Given the description of an element on the screen output the (x, y) to click on. 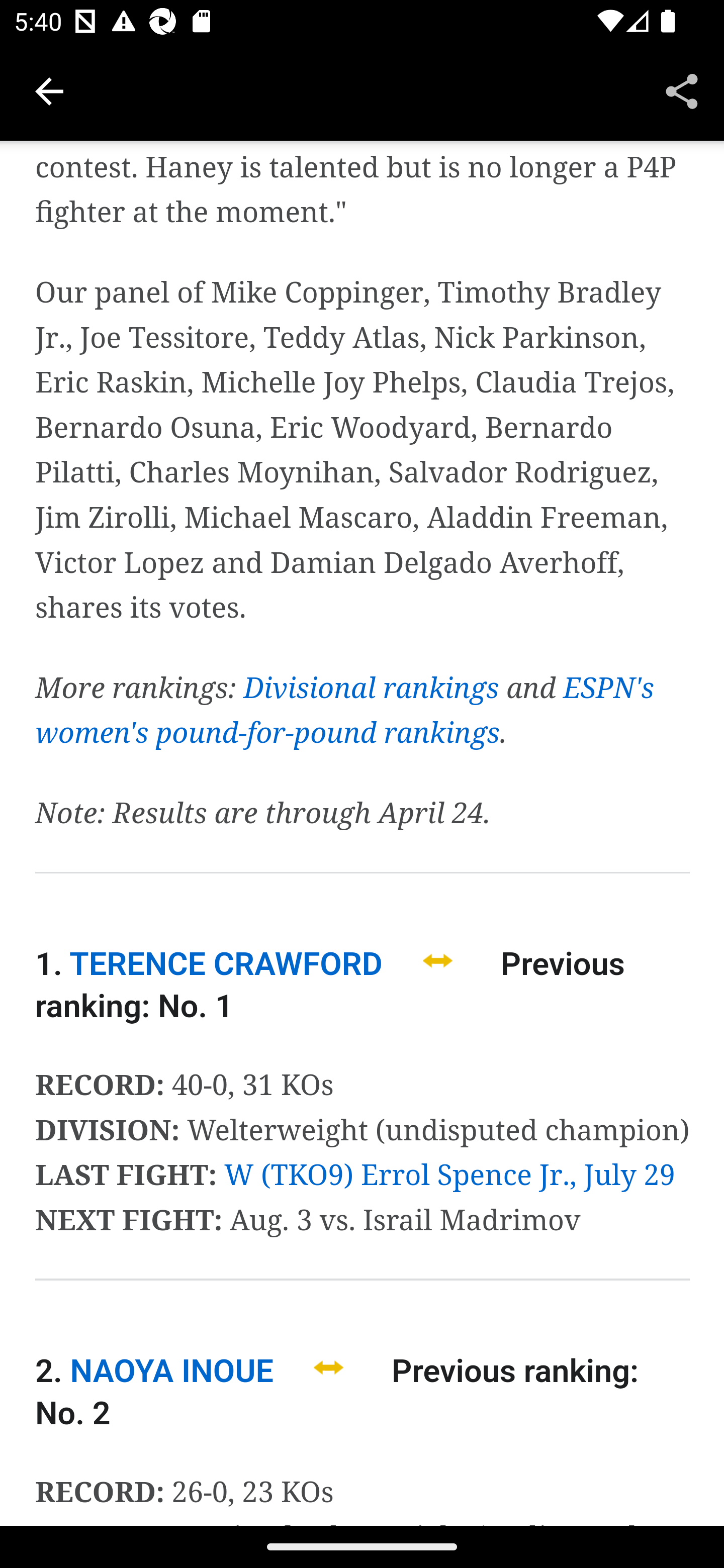
Navigate up (49, 91)
Share (681, 90)
